Given the description of an element on the screen output the (x, y) to click on. 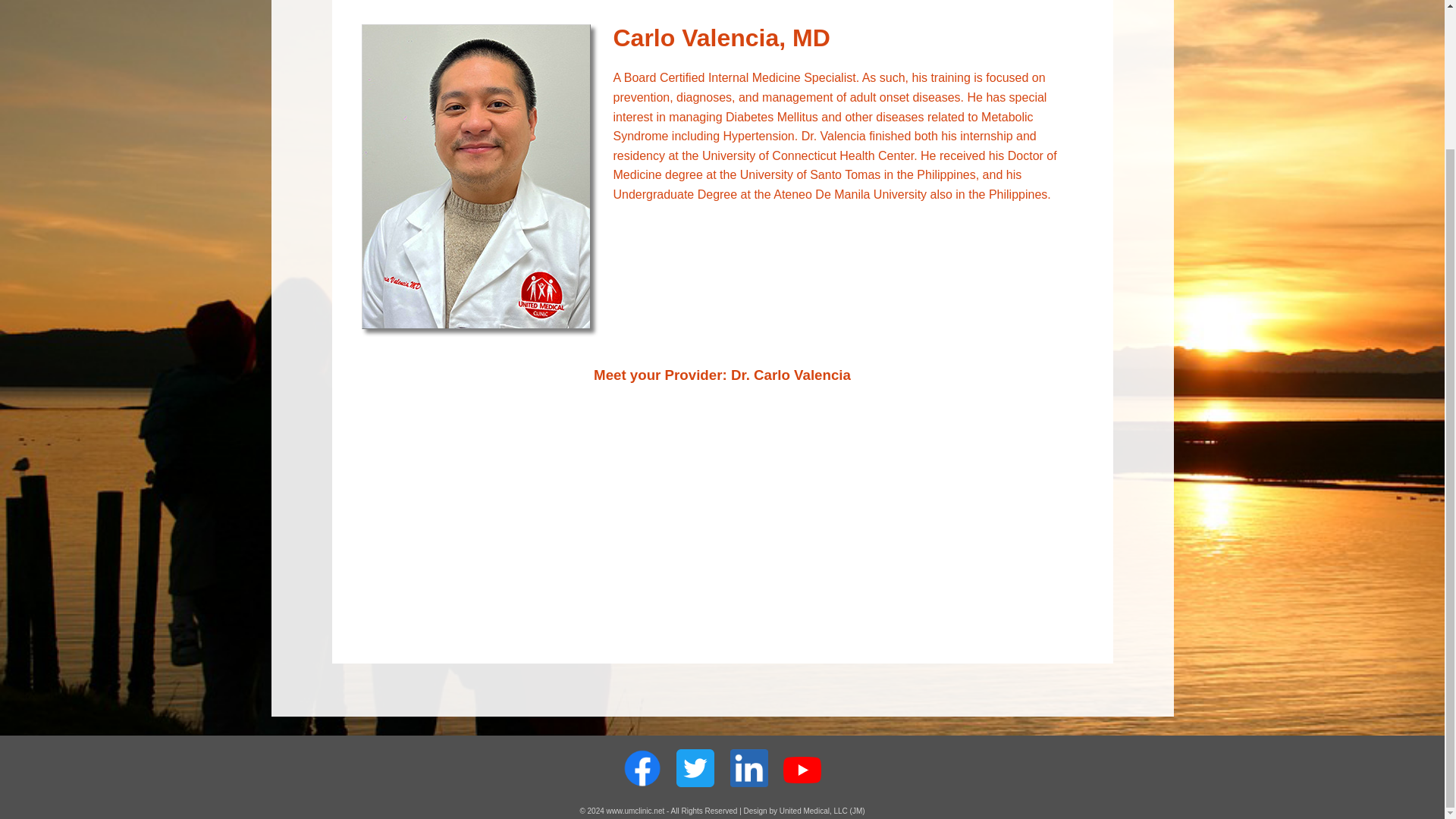
Carlo Valencia, MD, video (721, 517)
